Given the description of an element on the screen output the (x, y) to click on. 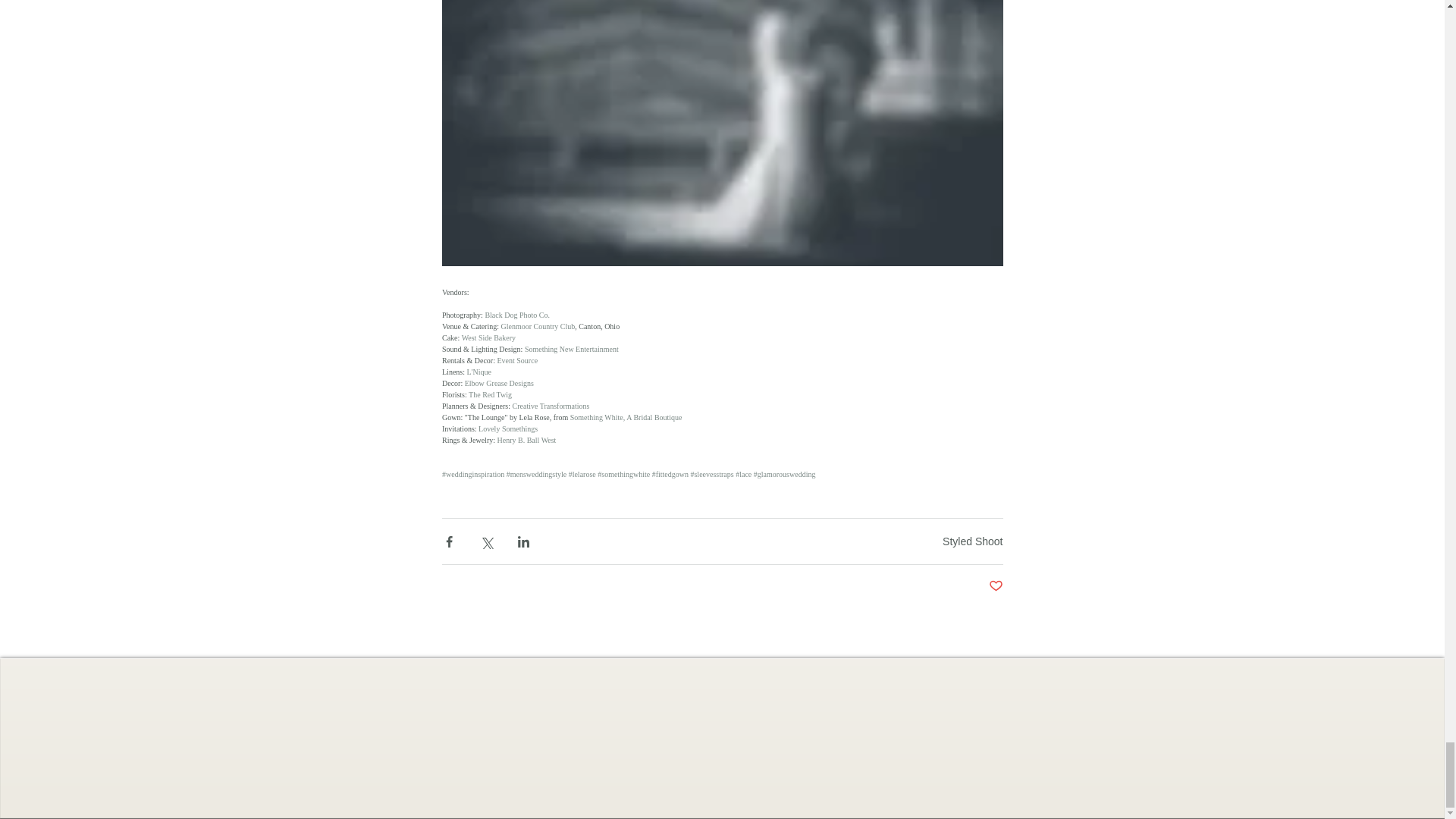
Something New Entertainment (570, 348)
Styled Shoot (972, 541)
Black Dog Photo Co. (517, 315)
Creative Transformations (550, 406)
Event Source (516, 360)
Something White, A Bridal Boutique (625, 417)
Post not marked as liked (995, 586)
Henry B. Ball West (526, 439)
Glenmoor Country Club (537, 326)
L'Nique (477, 371)
